Given the description of an element on the screen output the (x, y) to click on. 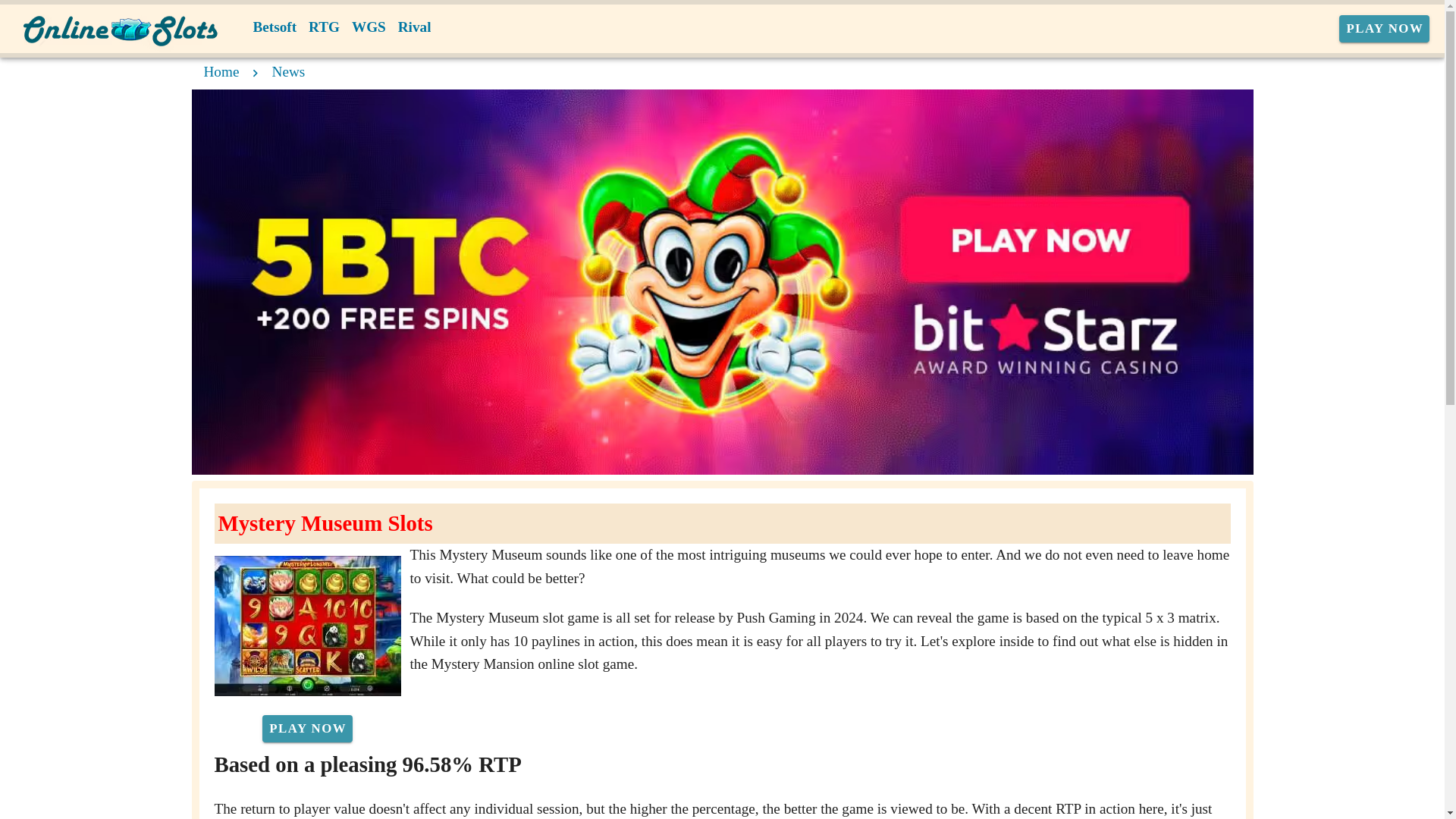
PLAY NOW (1384, 28)
RTG (324, 27)
PLAY NOW (307, 728)
WGS (368, 27)
Rival (414, 27)
News (288, 71)
Betsoft (274, 27)
Home (220, 71)
